Given the description of an element on the screen output the (x, y) to click on. 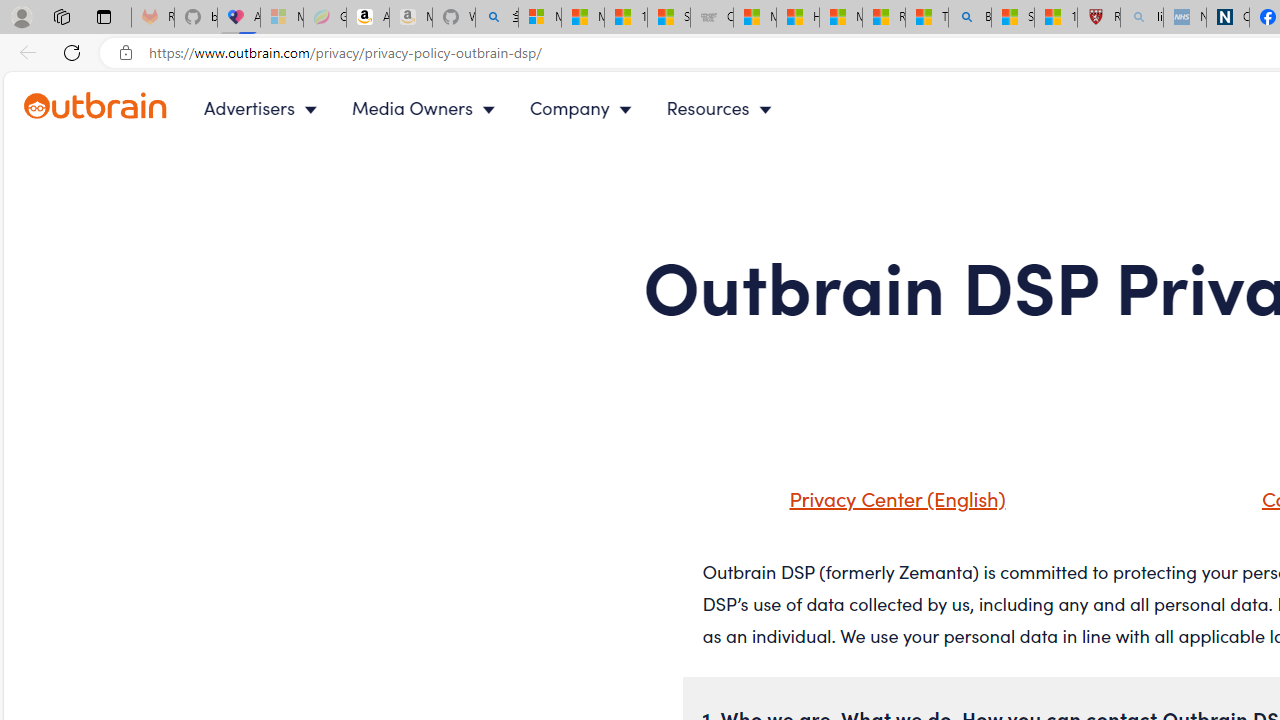
12 Popular Science Lies that Must be Corrected (1055, 17)
Advertisers (264, 107)
Robert H. Shmerling, MD - Harvard Health (1098, 17)
Privacy Center (English) (892, 497)
